Given the description of an element on the screen output the (x, y) to click on. 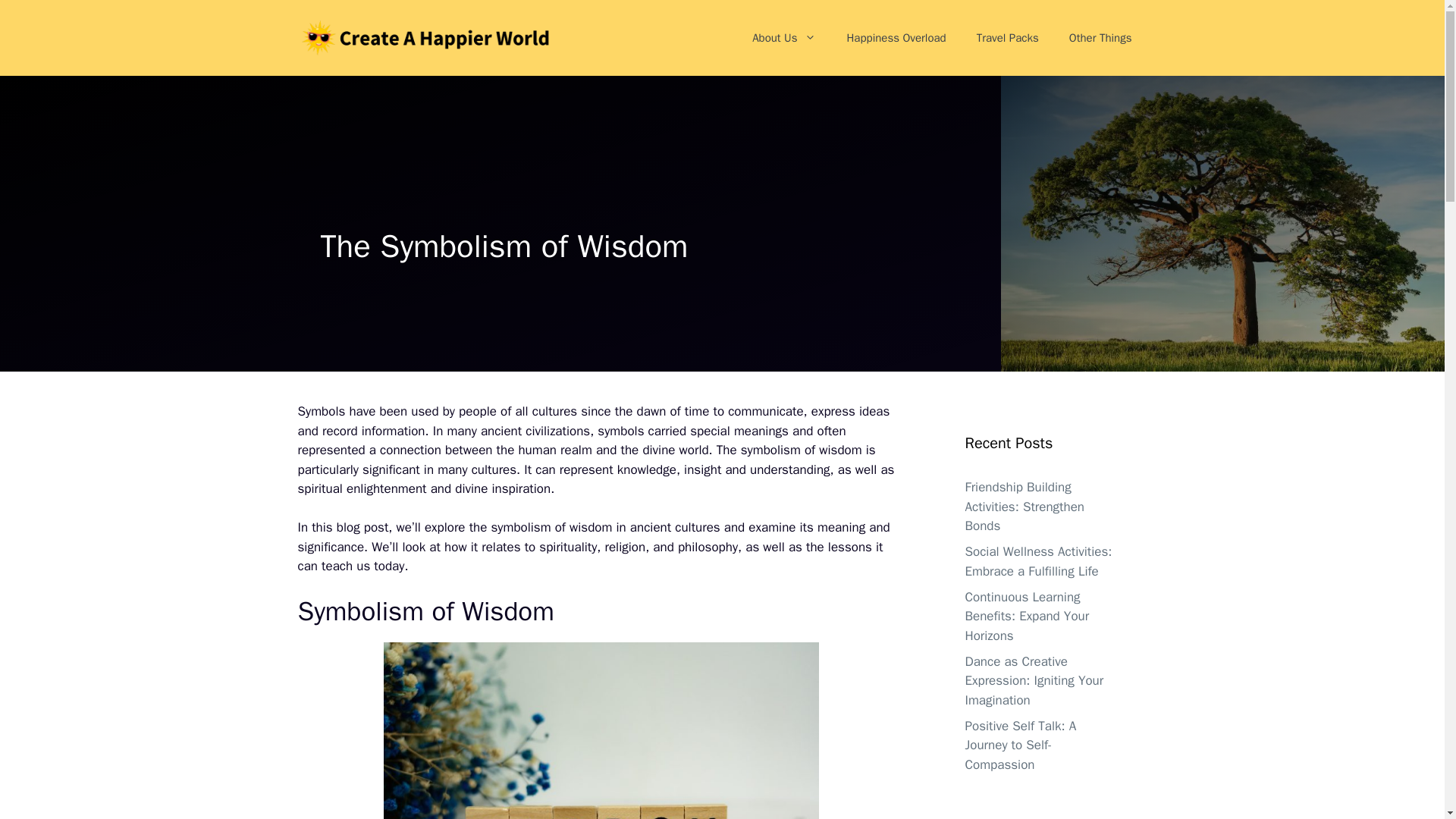
Friendship Building Activities: Strengthen Bonds (1023, 506)
Positive Self Talk: A Journey to Self-Compassion (1019, 745)
Other Things (1100, 37)
Social Wellness Activities: Embrace a Fulfilling Life (1037, 561)
Continuous Learning Benefits: Expand Your Horizons (1026, 615)
Happiness Overload (895, 37)
Dance as Creative Expression: Igniting Your Imagination (1033, 680)
About Us (783, 37)
Travel Packs (1007, 37)
